Given the description of an element on the screen output the (x, y) to click on. 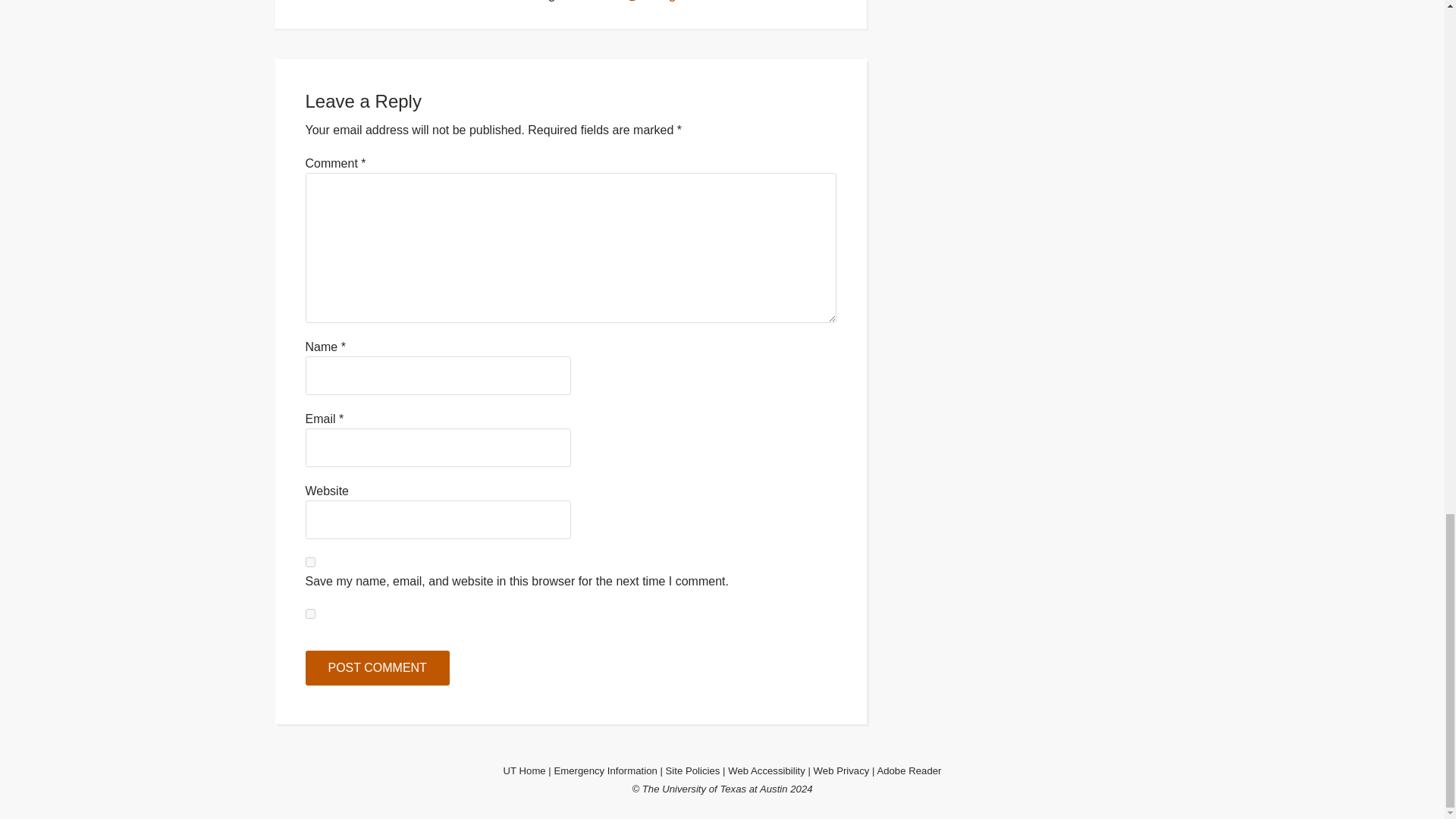
yes (309, 614)
Post Comment (376, 667)
Site Policies (692, 770)
Adobe Reader (908, 770)
UT Home (524, 770)
Web Privacy (841, 770)
yes (309, 562)
Post Comment (376, 667)
Emergency Information (604, 770)
Web Accessibility (766, 770)
